Given the description of an element on the screen output the (x, y) to click on. 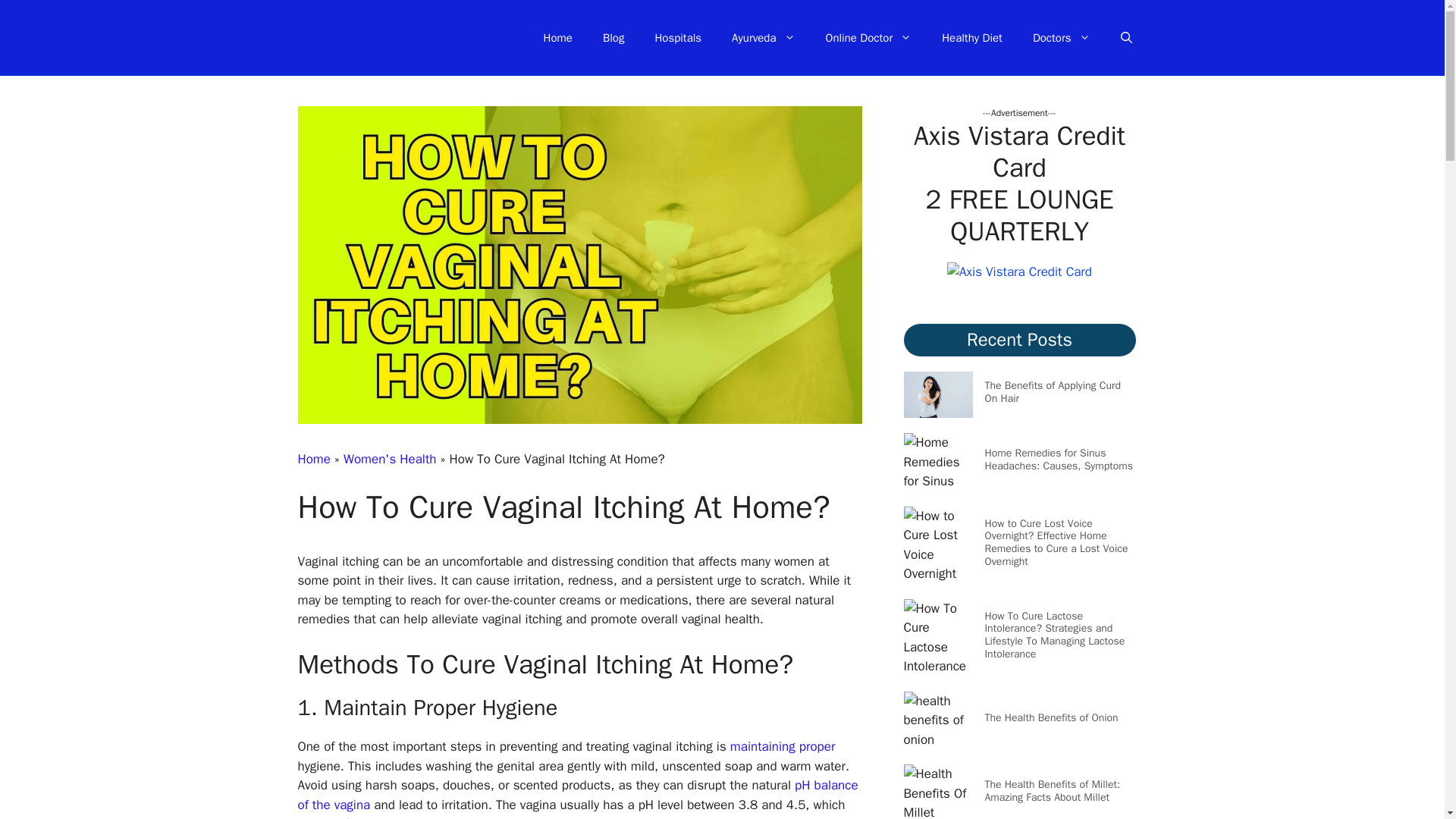
Online Doctor (868, 37)
Blog (613, 37)
Hospitals (677, 37)
Healthy Diet (971, 37)
Home (558, 37)
Ayurveda (762, 37)
Doctors (1061, 37)
